Given the description of an element on the screen output the (x, y) to click on. 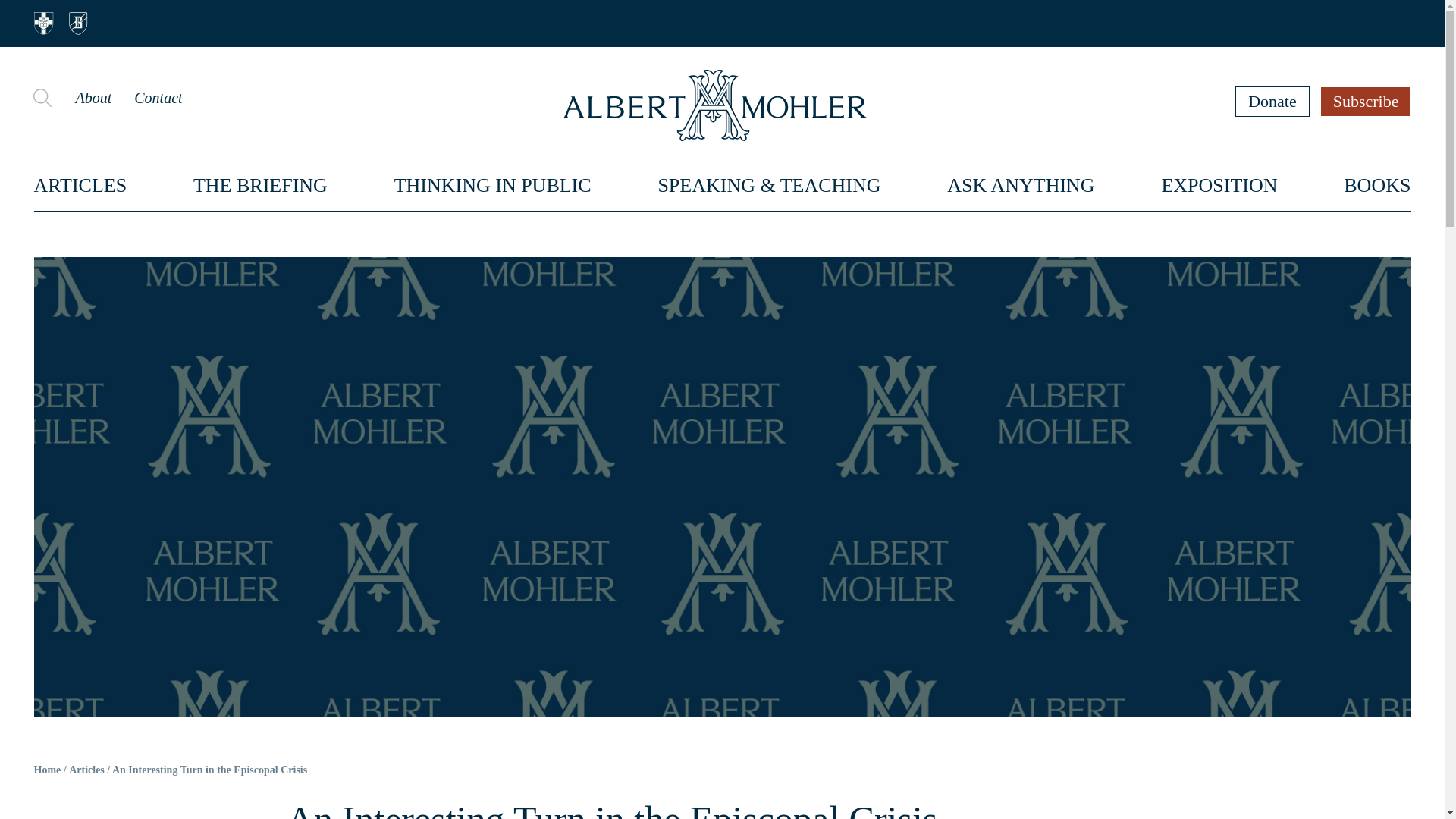
ARTICLES (79, 185)
Articles (86, 770)
EXPOSITION (1218, 185)
BOOKS (1376, 185)
THE BRIEFING (260, 185)
Contact (157, 97)
Subscribe (1366, 101)
Home (47, 770)
ASK ANYTHING (1020, 185)
THINKING IN PUBLIC (492, 185)
